Given the description of an element on the screen output the (x, y) to click on. 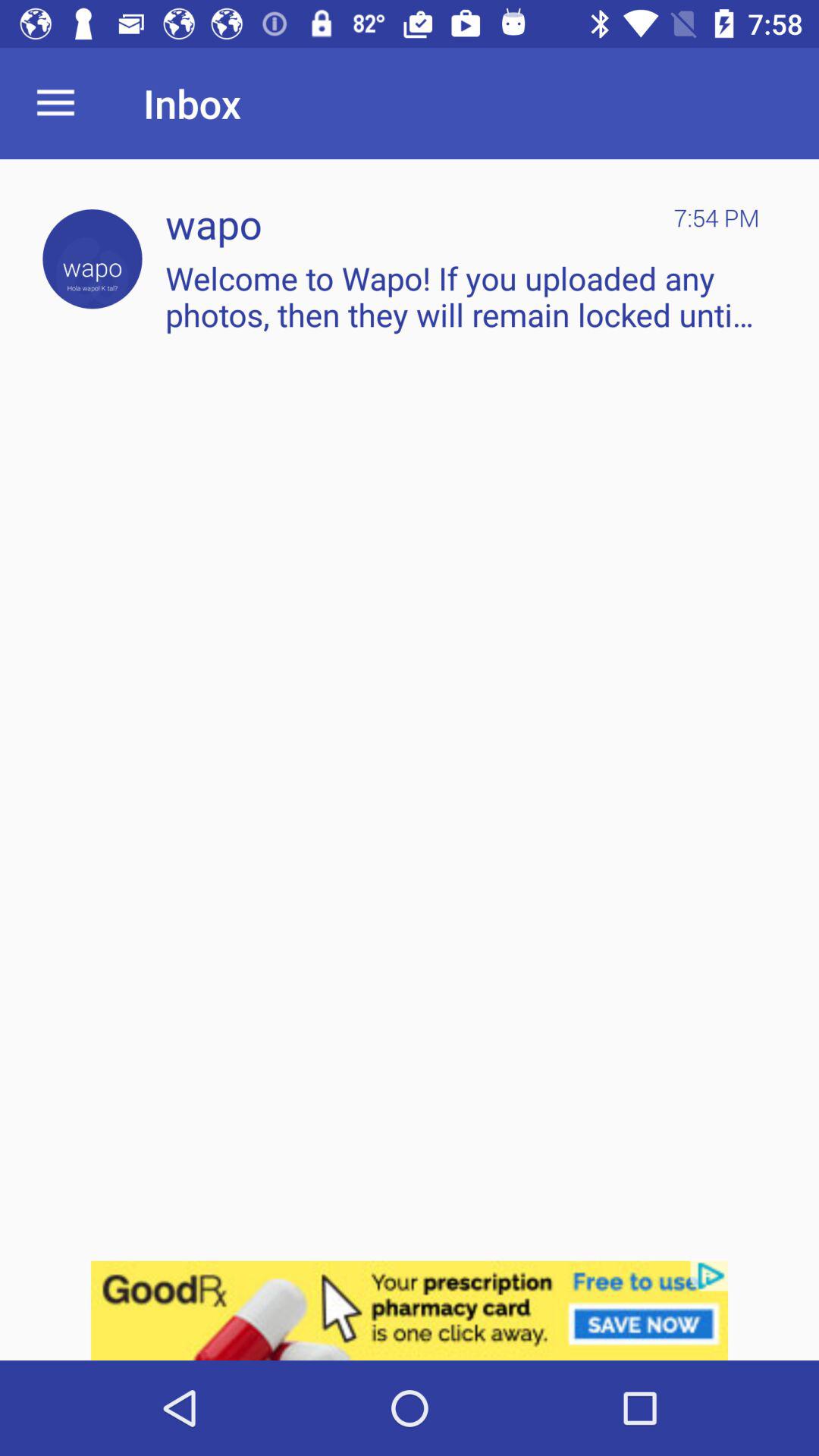
product page (409, 1310)
